Given the description of an element on the screen output the (x, y) to click on. 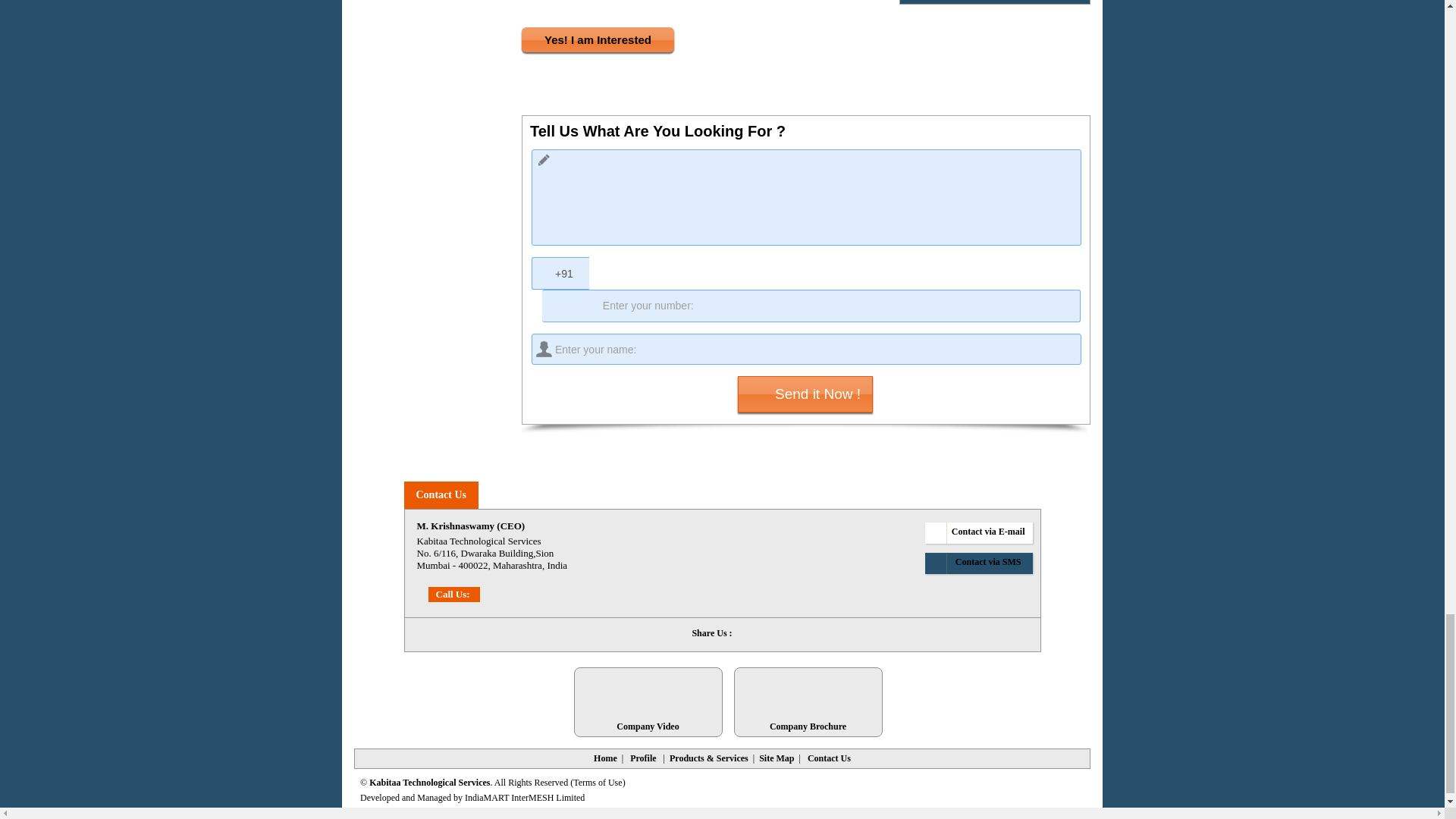
Enter your number: (810, 305)
Send it Now ! (805, 393)
Send it Now ! (805, 393)
Enter your name: (806, 348)
